Given the description of an element on the screen output the (x, y) to click on. 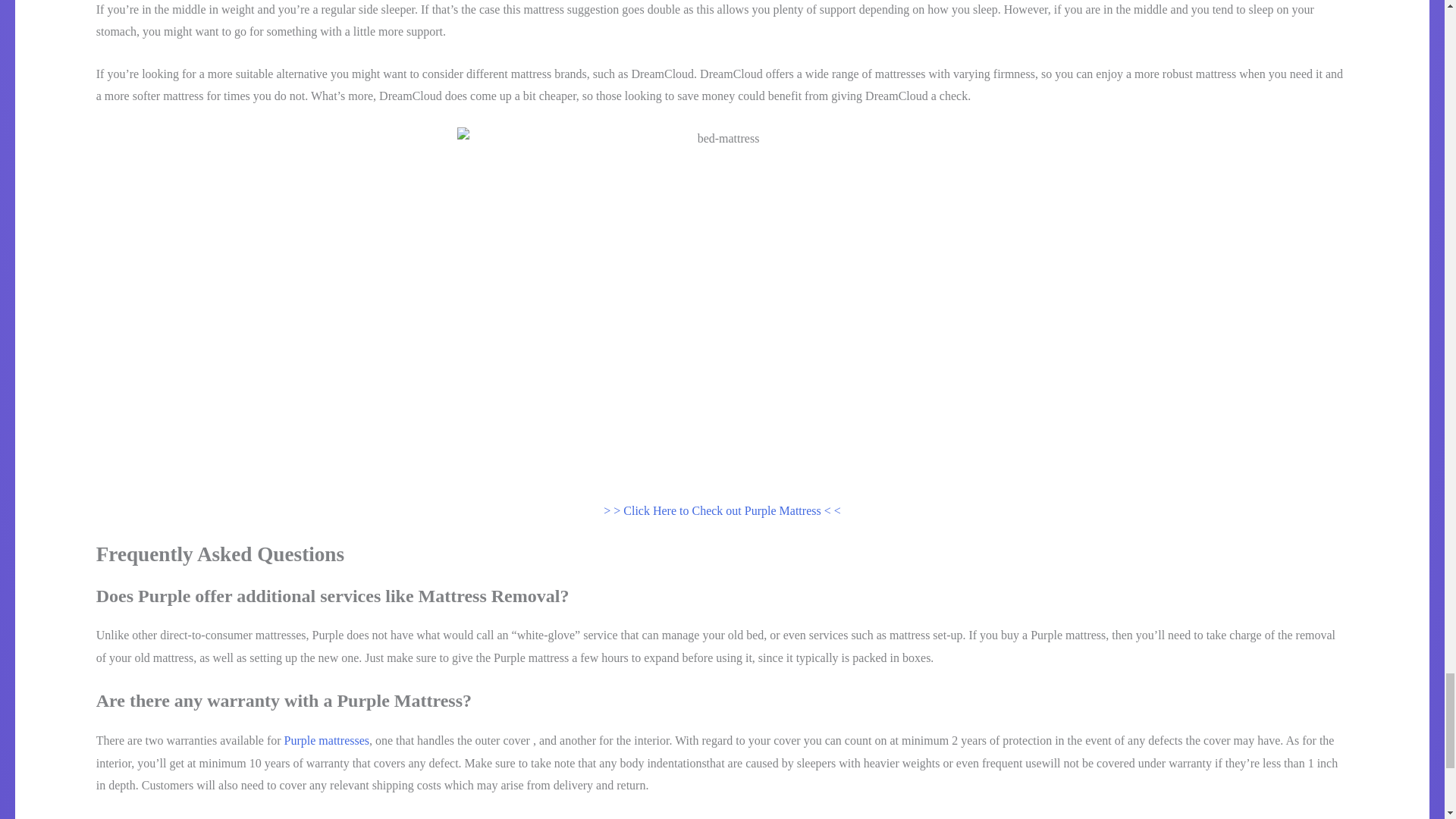
Purple mattresses (326, 739)
